Given the description of an element on the screen output the (x, y) to click on. 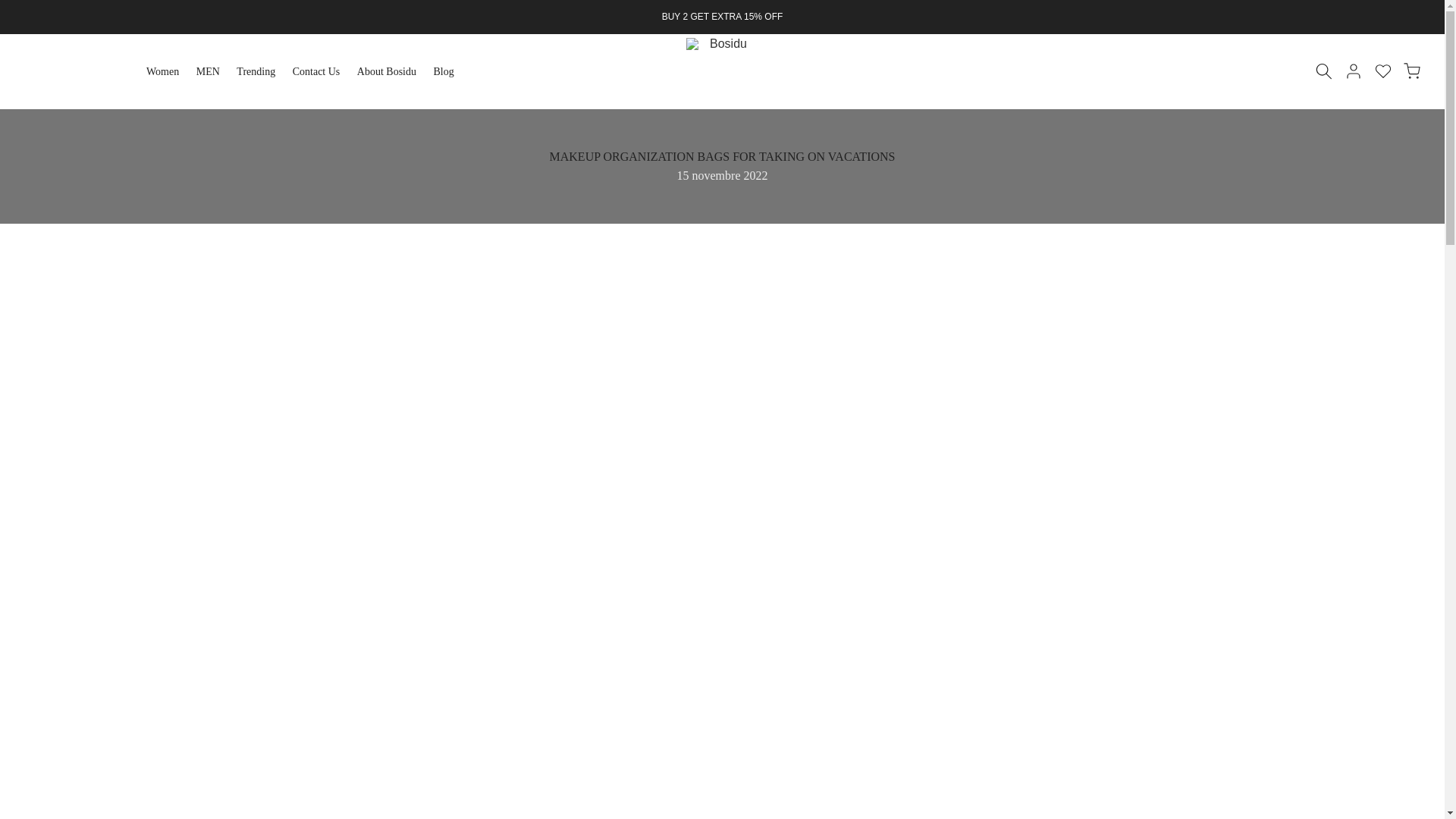
Trending (260, 72)
About Bosidu (391, 72)
Skip to content (10, 7)
Contact Us (320, 72)
Women (167, 72)
MEN (212, 72)
Blog (448, 72)
